Given the description of an element on the screen output the (x, y) to click on. 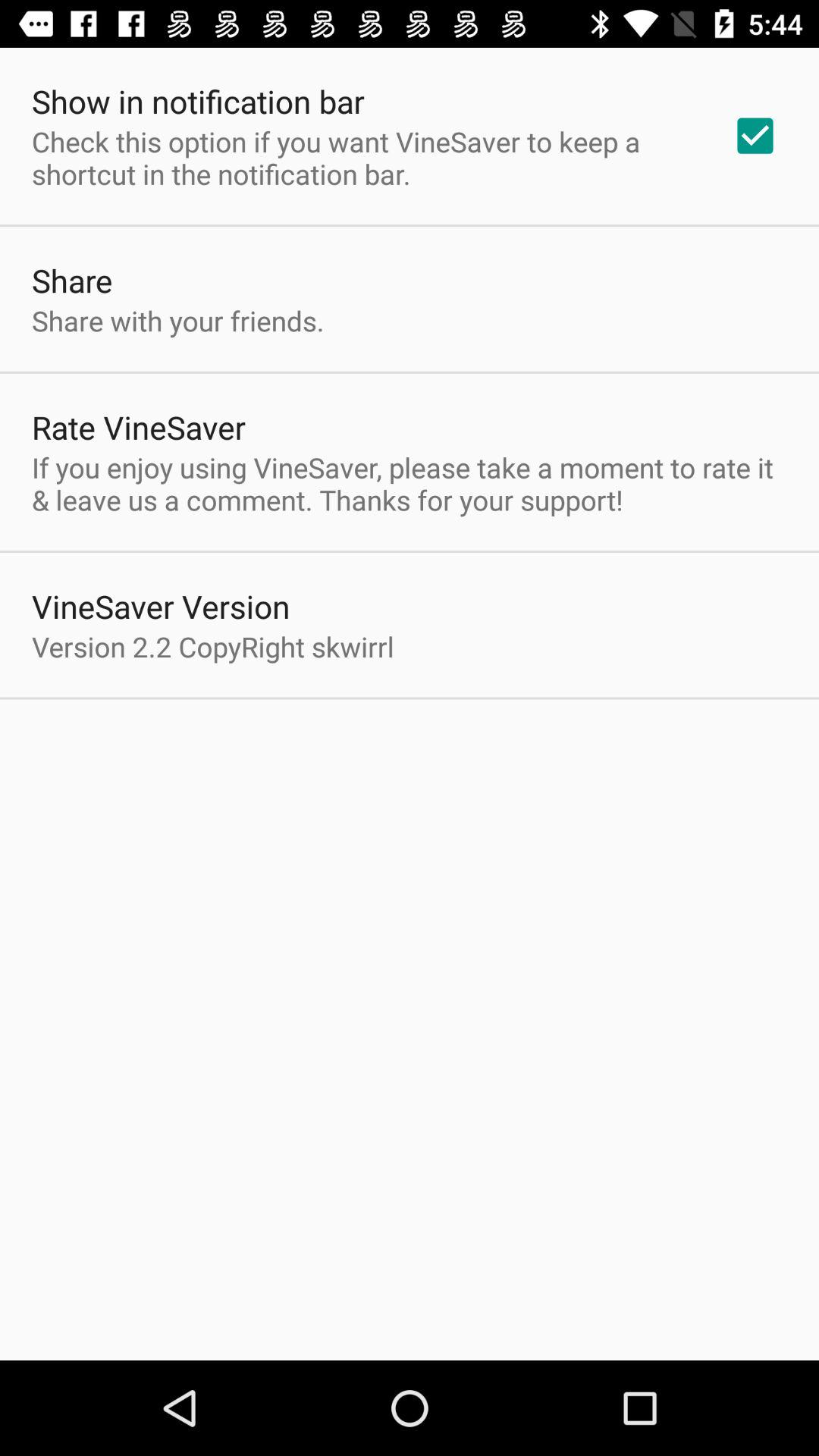
open check this option app (361, 157)
